Given the description of an element on the screen output the (x, y) to click on. 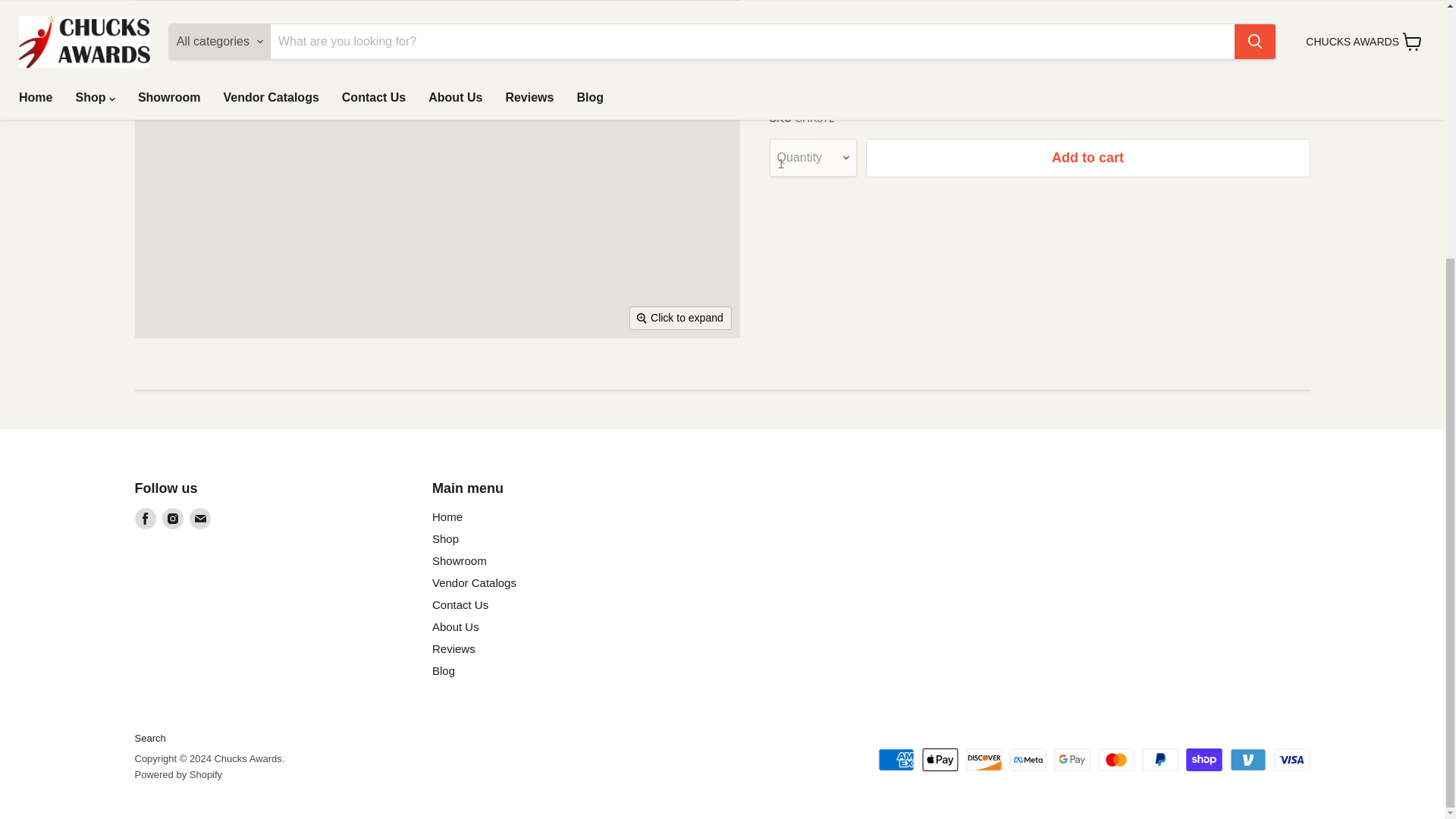
Discover (984, 759)
PayPal (1159, 759)
Facebook (145, 518)
Meta Pay (1028, 759)
Google Pay (1072, 759)
Apple Pay (939, 759)
American Express (895, 759)
Email (200, 518)
Mastercard (1115, 759)
Instagram (172, 518)
